Given the description of an element on the screen output the (x, y) to click on. 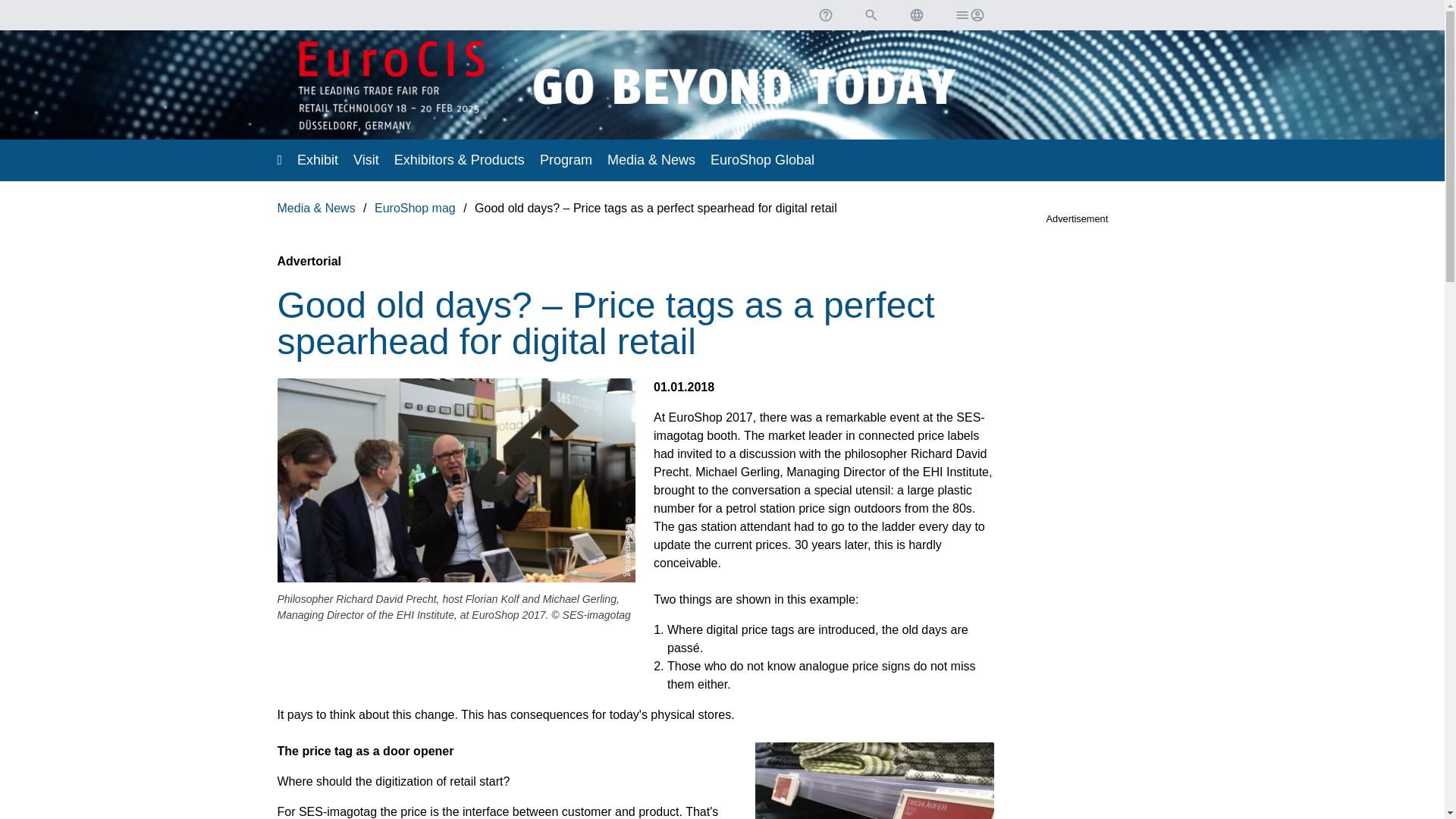
Support (824, 14)
Login (968, 14)
Search (870, 14)
ENGLISH (915, 14)
